Given the description of an element on the screen output the (x, y) to click on. 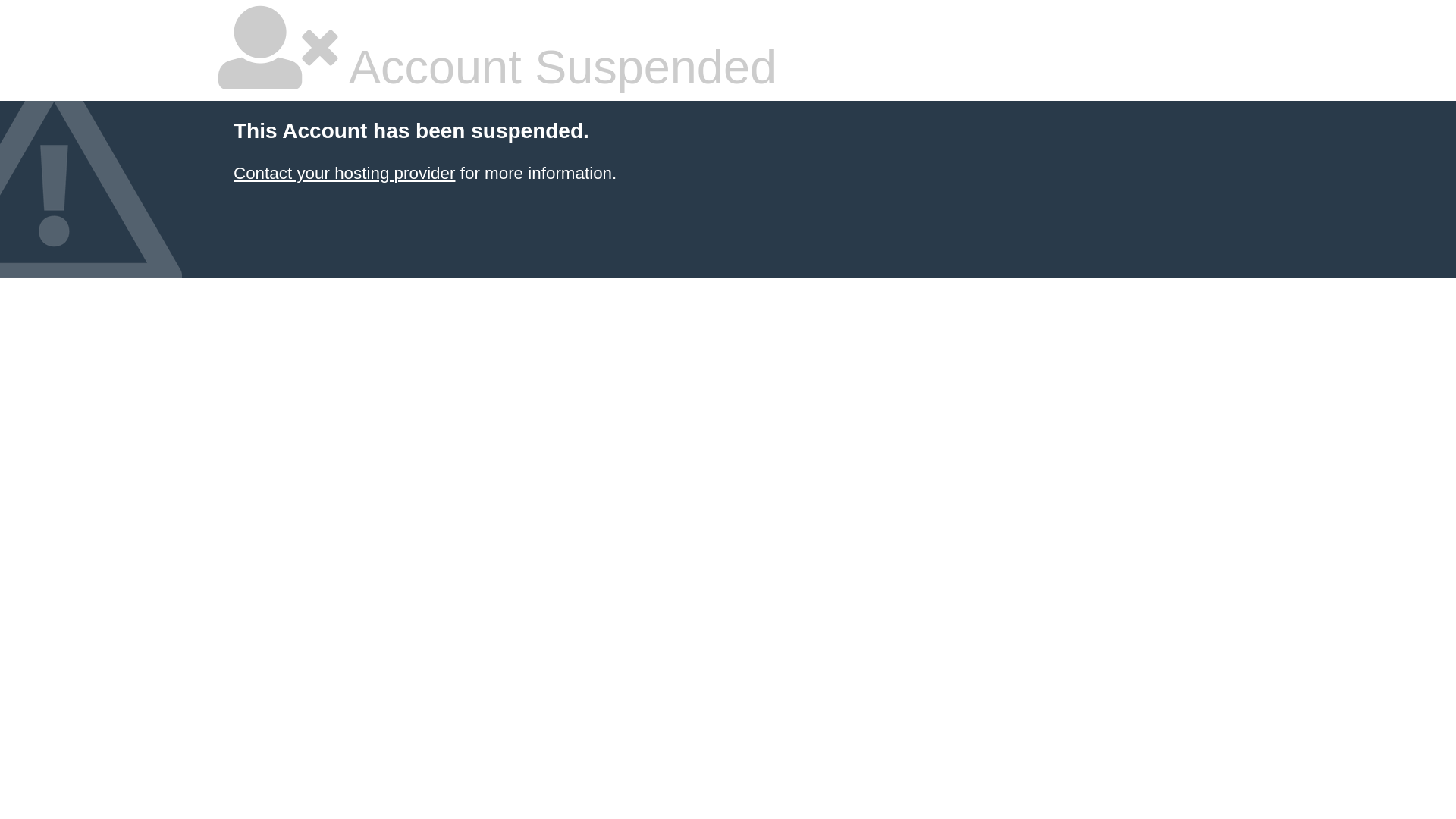
Contact your hosting provider Element type: text (344, 172)
